Given the description of an element on the screen output the (x, y) to click on. 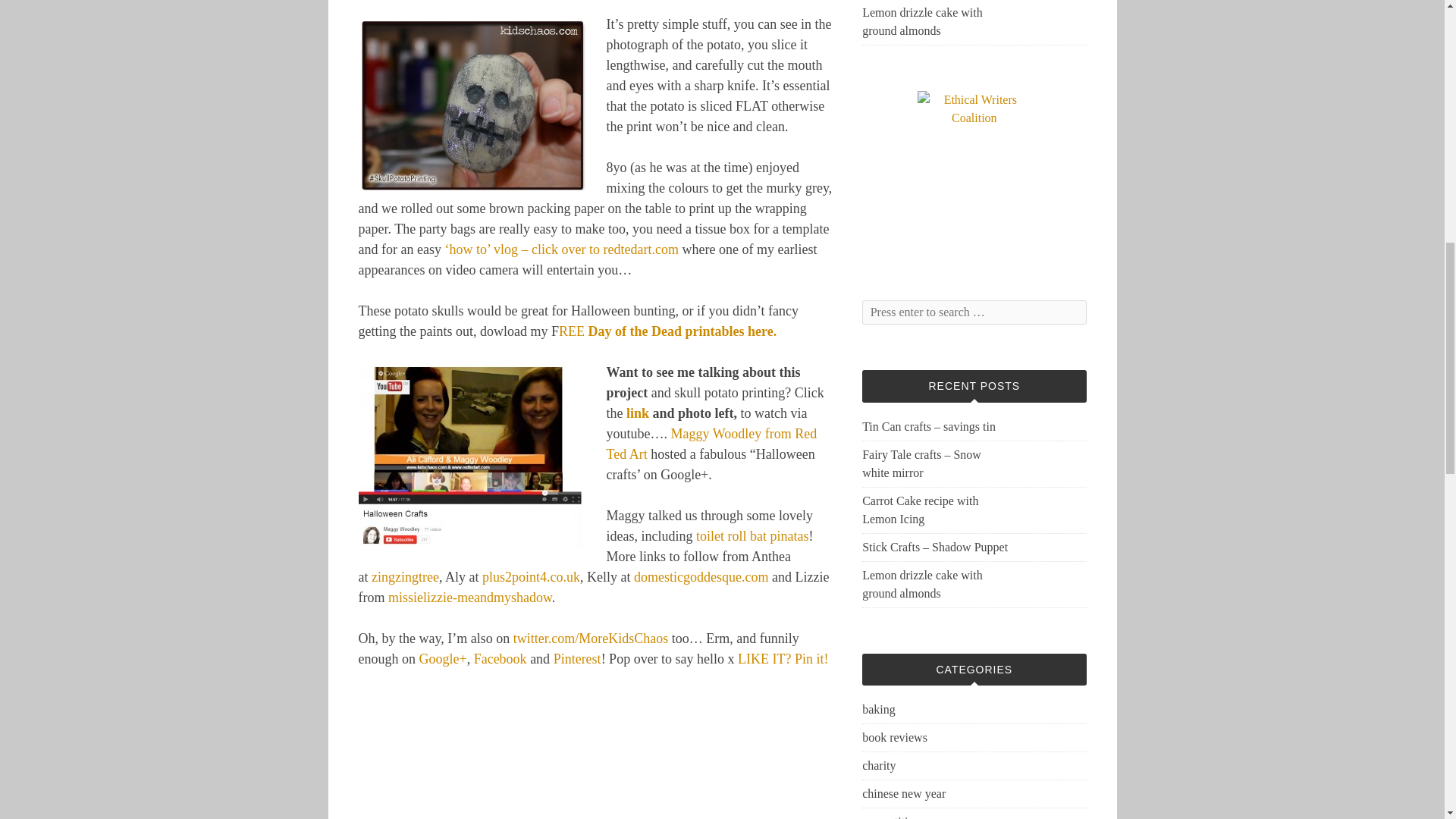
Pinterest (577, 658)
Facebook (500, 658)
Search for: (973, 312)
REE Day of the Dead printables here. (667, 331)
link (637, 412)
domesticgoddesque.com (700, 576)
toilet roll bat pinatas (751, 535)
Maggy Woodley from Red Ted Art (711, 443)
zingzingtree (405, 576)
missielizzie-meandmyshadow (469, 597)
plus2point4.co.uk (530, 576)
LIKE IT? Pin it! (783, 658)
